Given the description of an element on the screen output the (x, y) to click on. 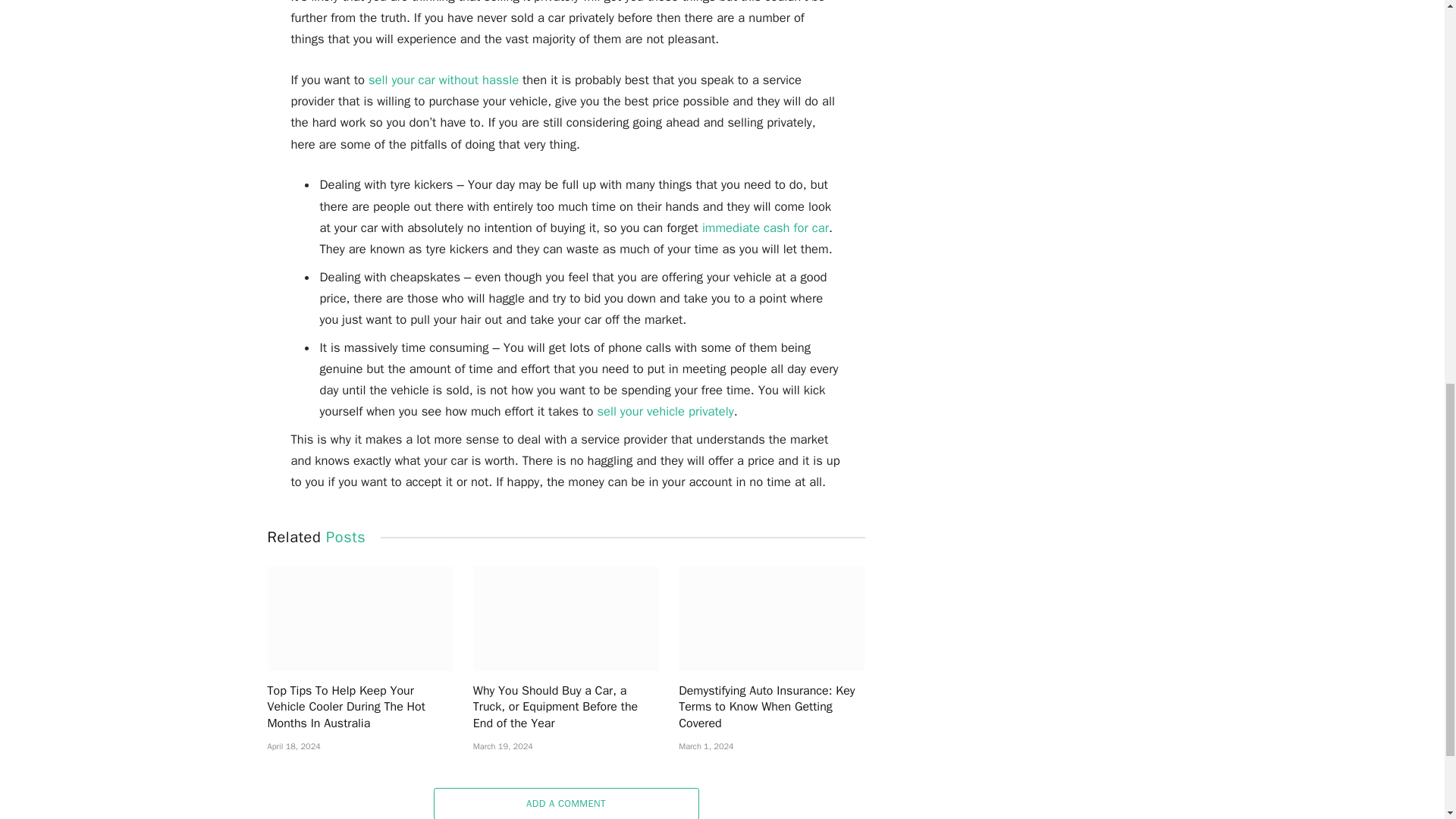
sell your car without hassle (443, 79)
immediate cash (747, 227)
